Given the description of an element on the screen output the (x, y) to click on. 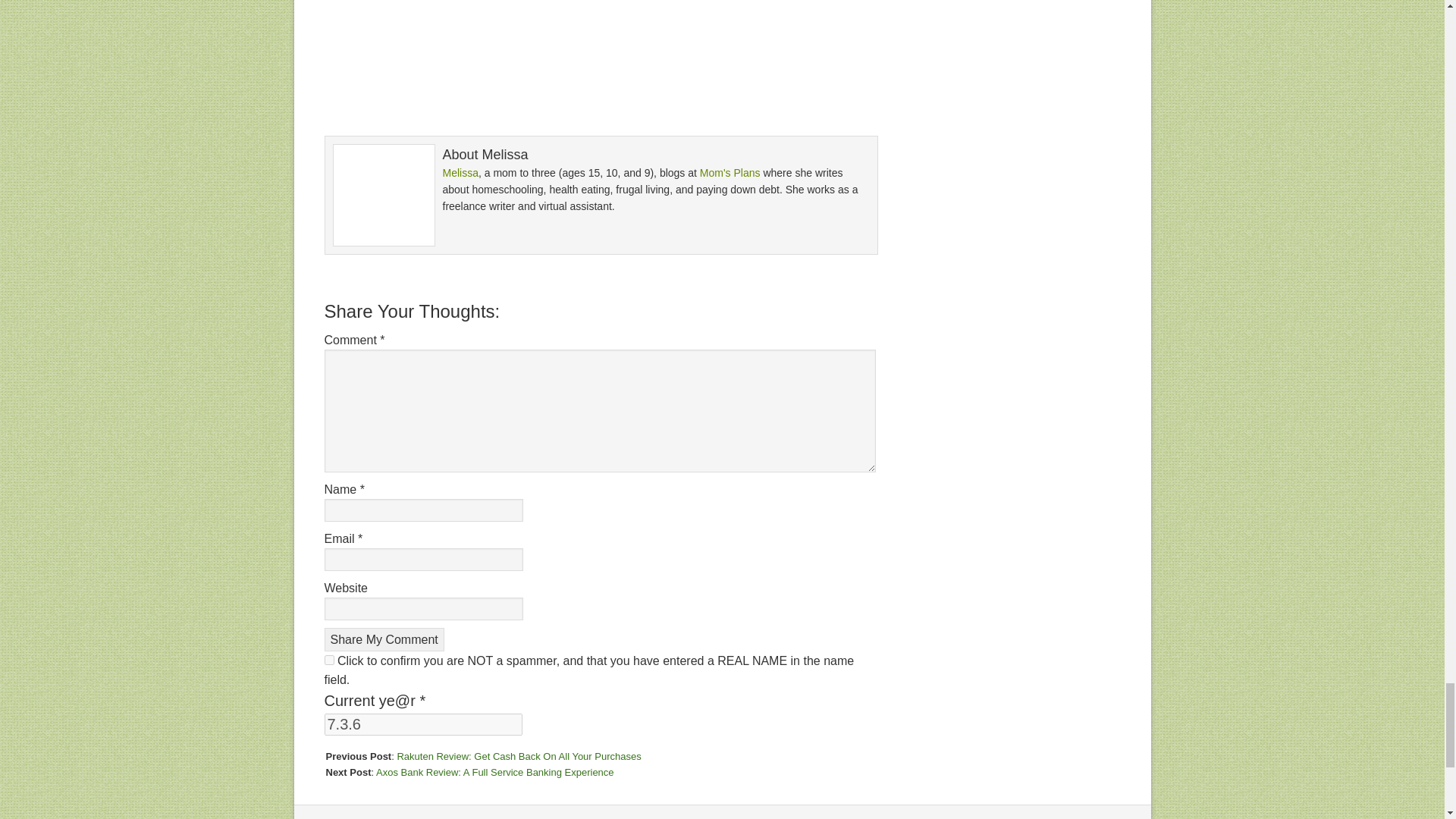
on (329, 660)
7.3.6 (423, 724)
Share My Comment (384, 639)
